Given the description of an element on the screen output the (x, y) to click on. 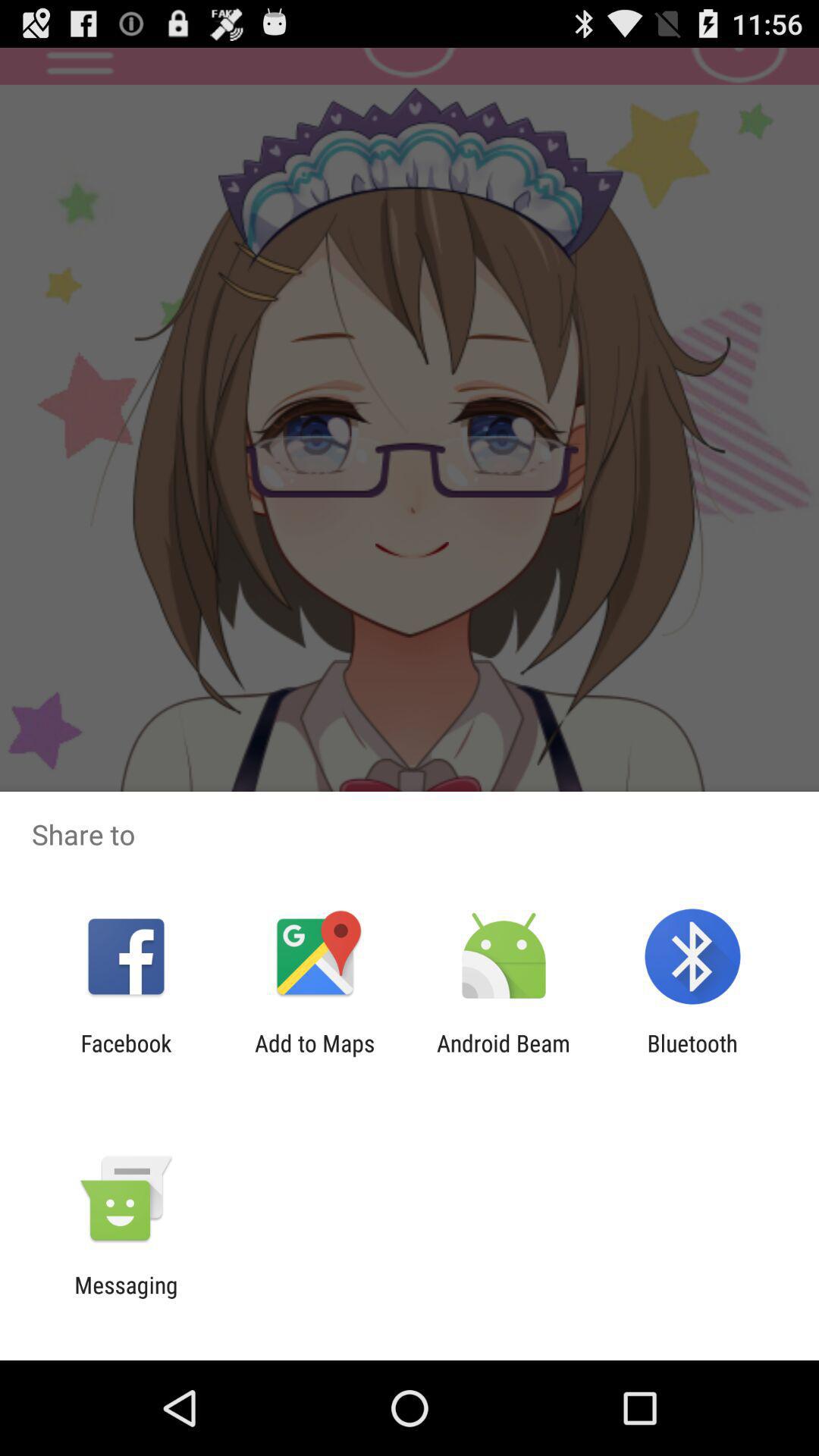
select item next to the android beam item (314, 1056)
